Given the description of an element on the screen output the (x, y) to click on. 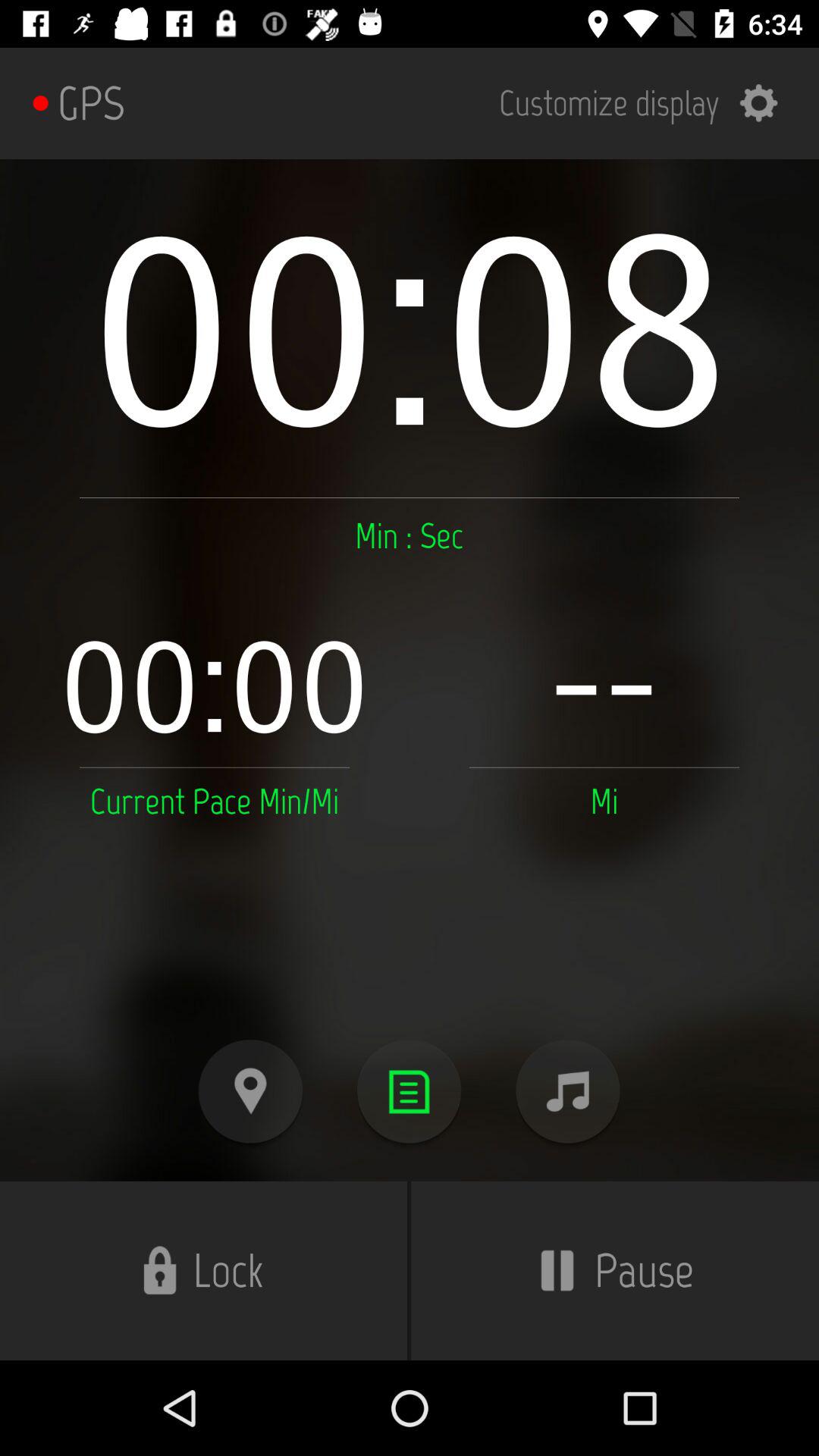
scroll until customize display icon (648, 103)
